Given the description of an element on the screen output the (x, y) to click on. 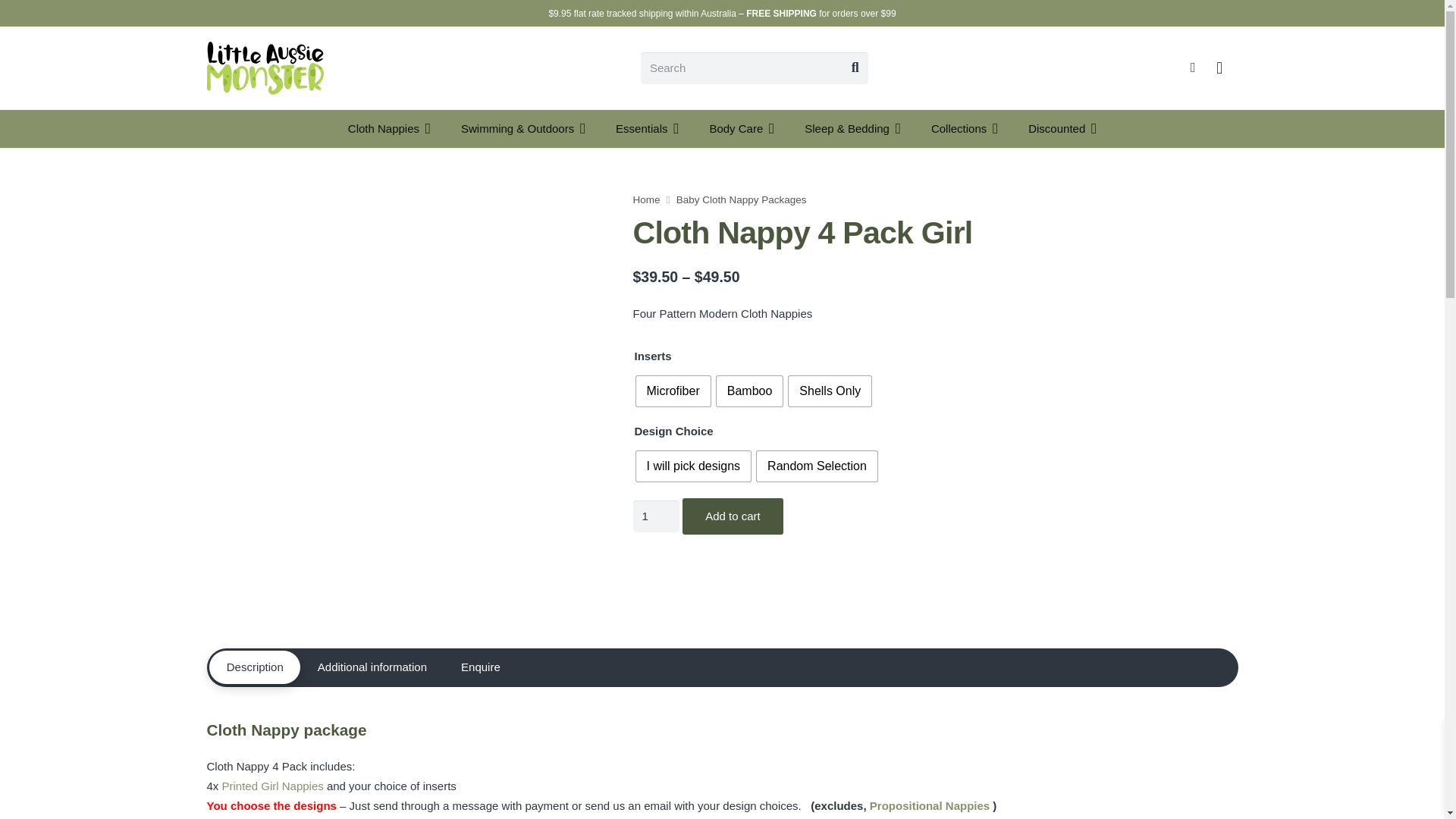
Random Selection (817, 466)
Body Care (741, 128)
Microfiber (672, 390)
Essentials (646, 128)
I will pick designs (692, 466)
Shells Only (829, 390)
Bamboo (749, 390)
Cloth Nappies (389, 128)
1 (655, 516)
